Given the description of an element on the screen output the (x, y) to click on. 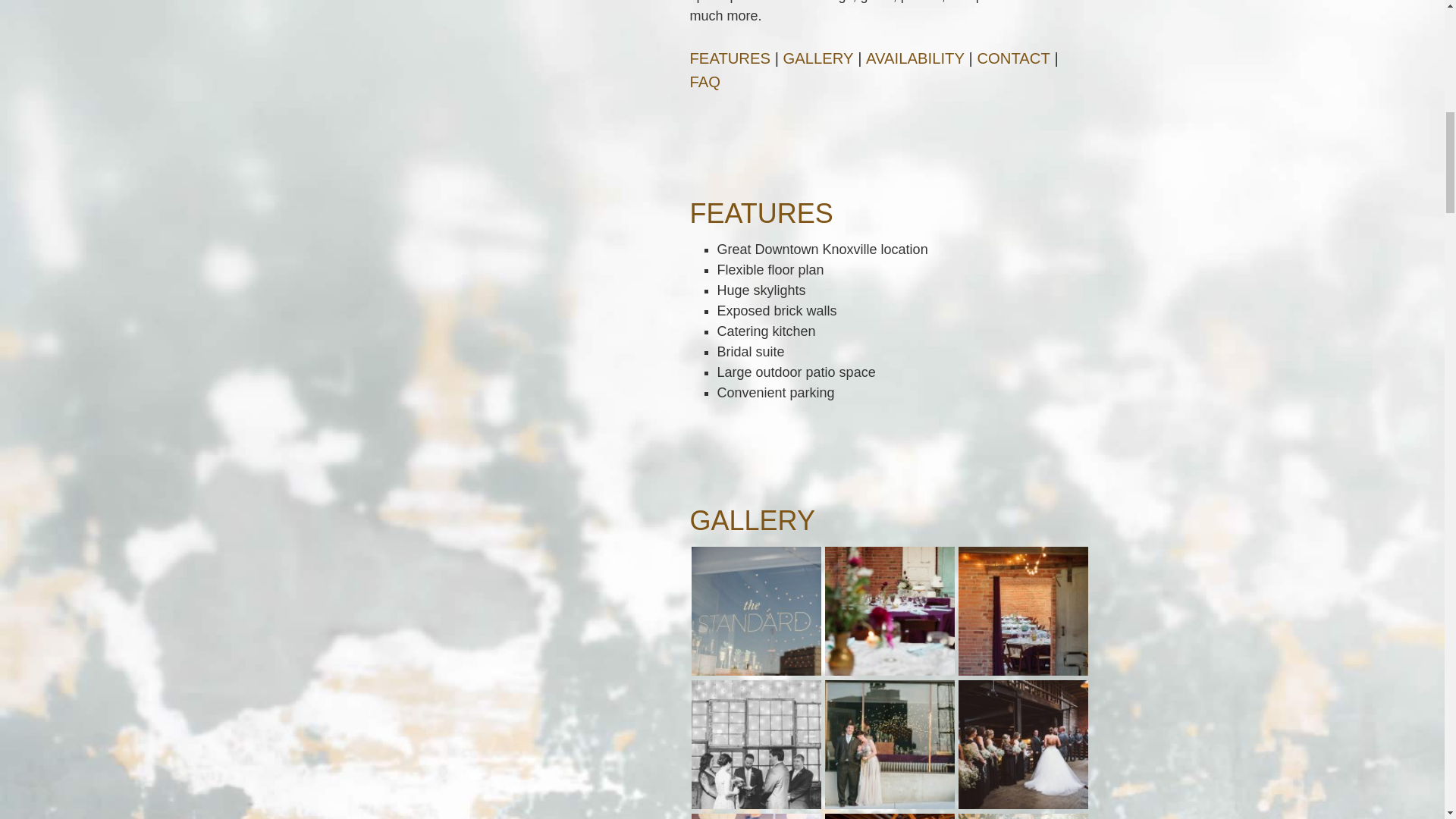
CONTACT (1012, 57)
GALLERY (818, 57)
Knoxville Wedding Reception - The Standard (1022, 611)
Wedding ceremony-The Standard Knoxville (756, 744)
Newlyweds at The Standard Knoxville (890, 744)
The Standard - Wedding Reception (890, 611)
Downtown Knoxville Wedding (1022, 744)
AVAILABILITY (914, 57)
FEATURES (730, 57)
Downtown Knoxville Wedding Bouquet (1022, 816)
Knoxville wedding first dance (756, 816)
Downtown Knoxville wedding reception (890, 816)
Downtown Knoxville Wedding - The Standard (756, 611)
FAQ (705, 81)
